Given the description of an element on the screen output the (x, y) to click on. 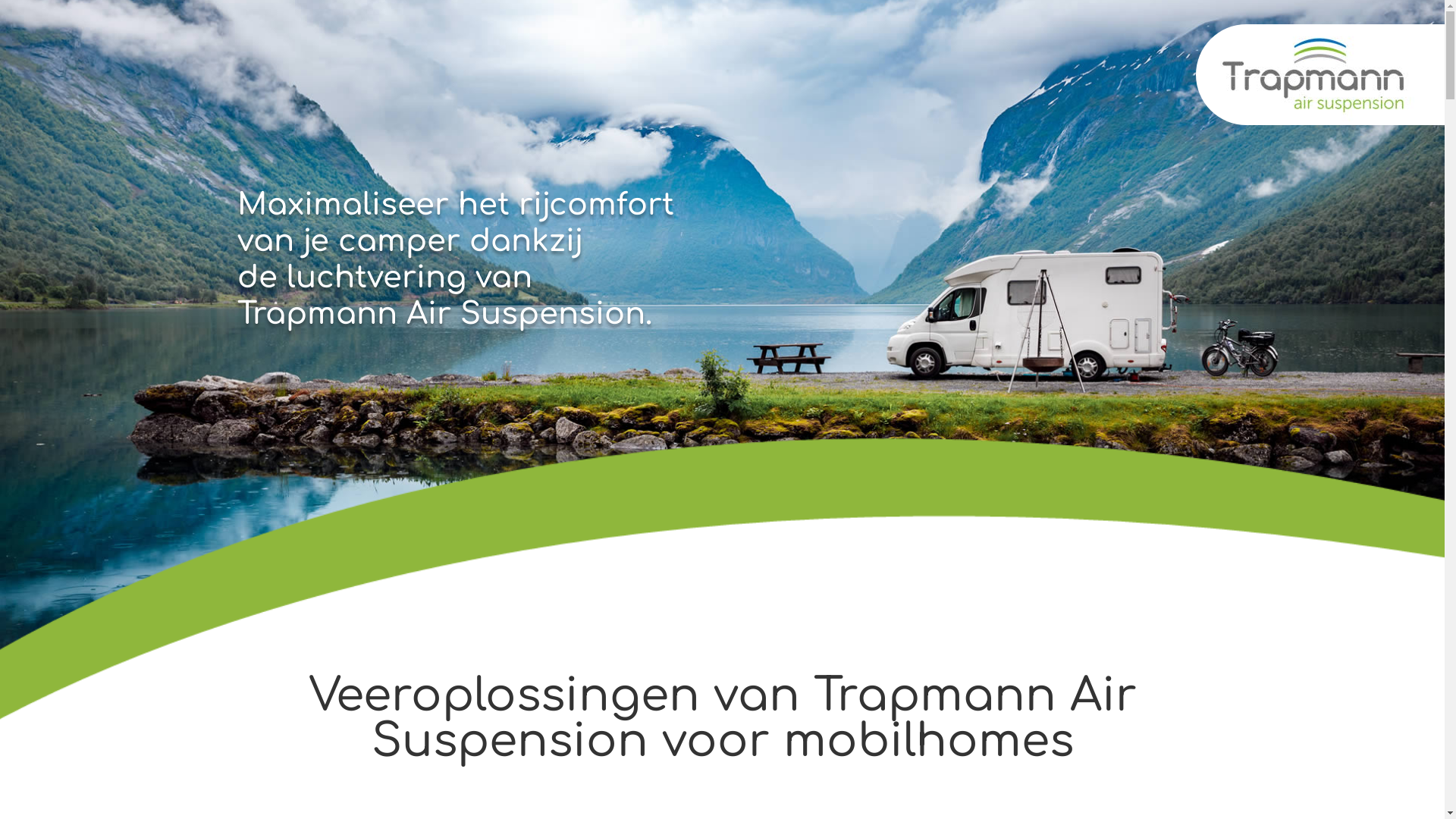
Veeroplossingen van Trapmann Air Suspension voor mobilhomes Element type: text (721, 718)
logo trapmann Brochure air suspension-NL campers KL Element type: hover (1319, 74)
